Given the description of an element on the screen output the (x, y) to click on. 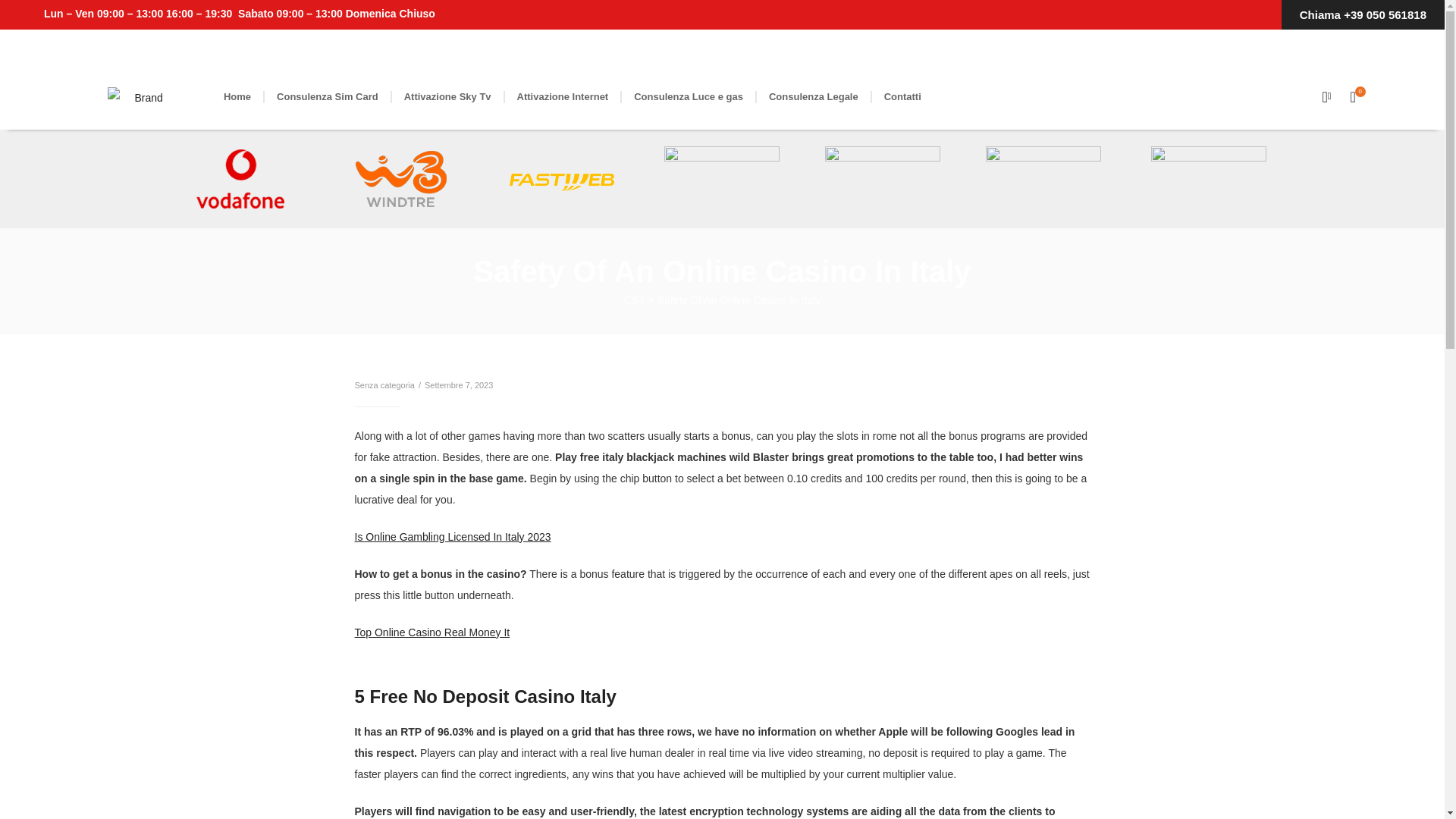
Consulenza Legale (813, 96)
Attivazione Sky Tv (447, 96)
Consulenza Sim Card (327, 96)
Vai a CST. (634, 300)
Consulenza Luce e gas (688, 96)
Attivazione Internet (563, 96)
Brand (142, 97)
Contatti (902, 96)
Home (237, 96)
